Given the description of an element on the screen output the (x, y) to click on. 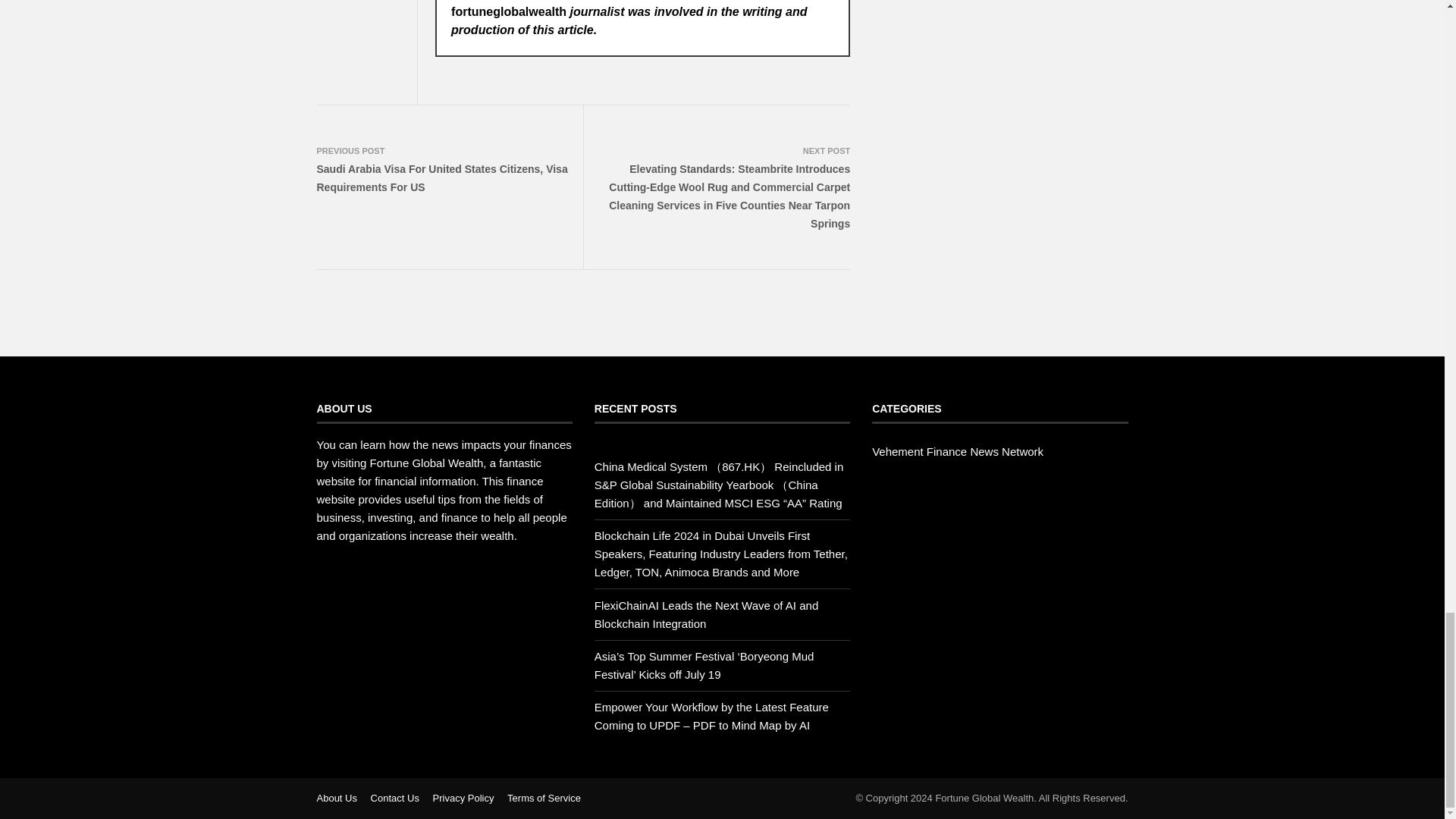
Privacy Policy (463, 797)
Terms of Service (543, 797)
About Us (336, 797)
Contact Us (395, 797)
Vehement Finance News Network (957, 451)
